Given the description of an element on the screen output the (x, y) to click on. 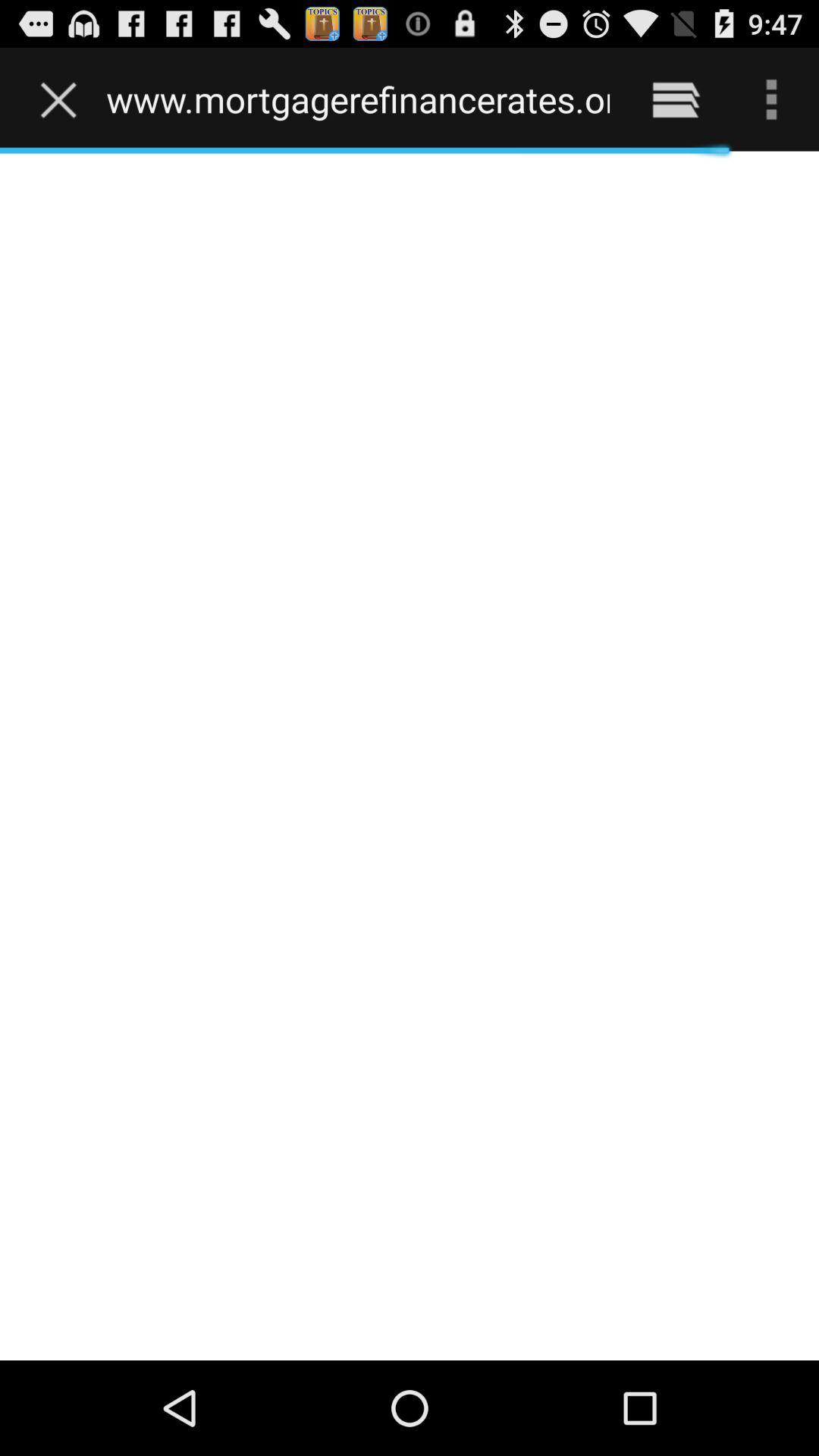
open item to the right of the www mortgagerefinancerates org item (675, 99)
